Given the description of an element on the screen output the (x, y) to click on. 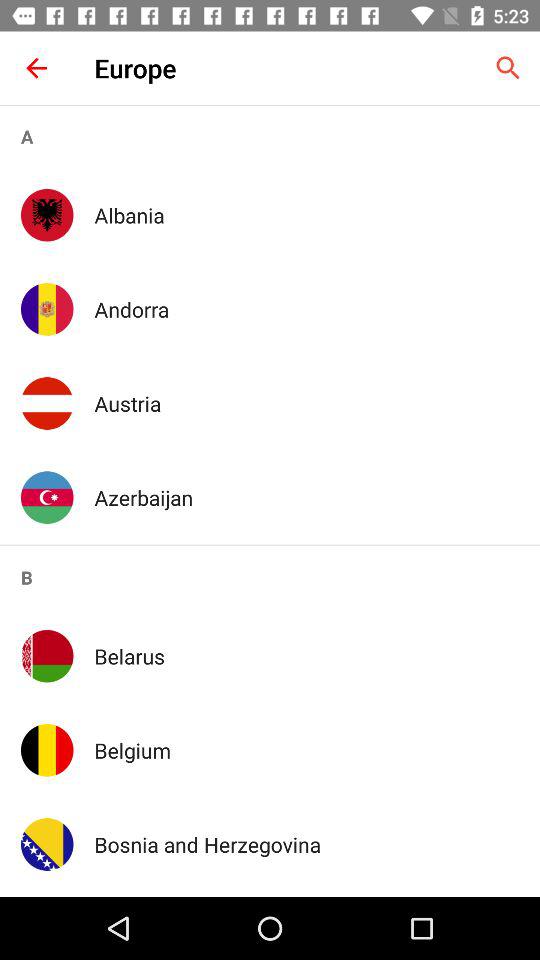
swipe until andorra icon (306, 309)
